Given the description of an element on the screen output the (x, y) to click on. 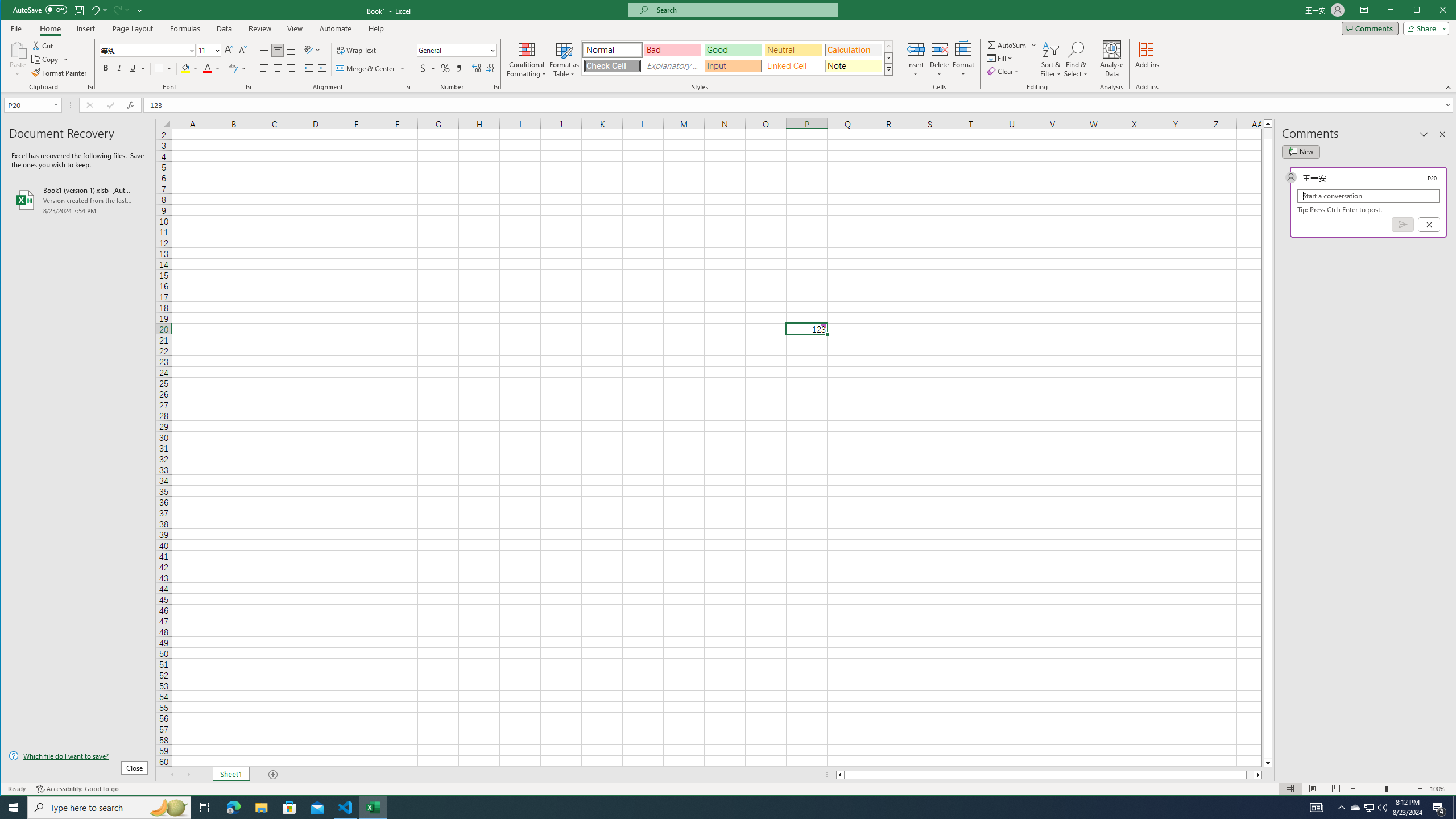
Number Format (456, 49)
Format (963, 59)
Paste (17, 48)
Excel - 1 running window (373, 807)
Merge & Center (370, 68)
Increase Decimal (476, 68)
Delete Cells... (939, 48)
Top Align (263, 49)
Borders (163, 68)
